Given the description of an element on the screen output the (x, y) to click on. 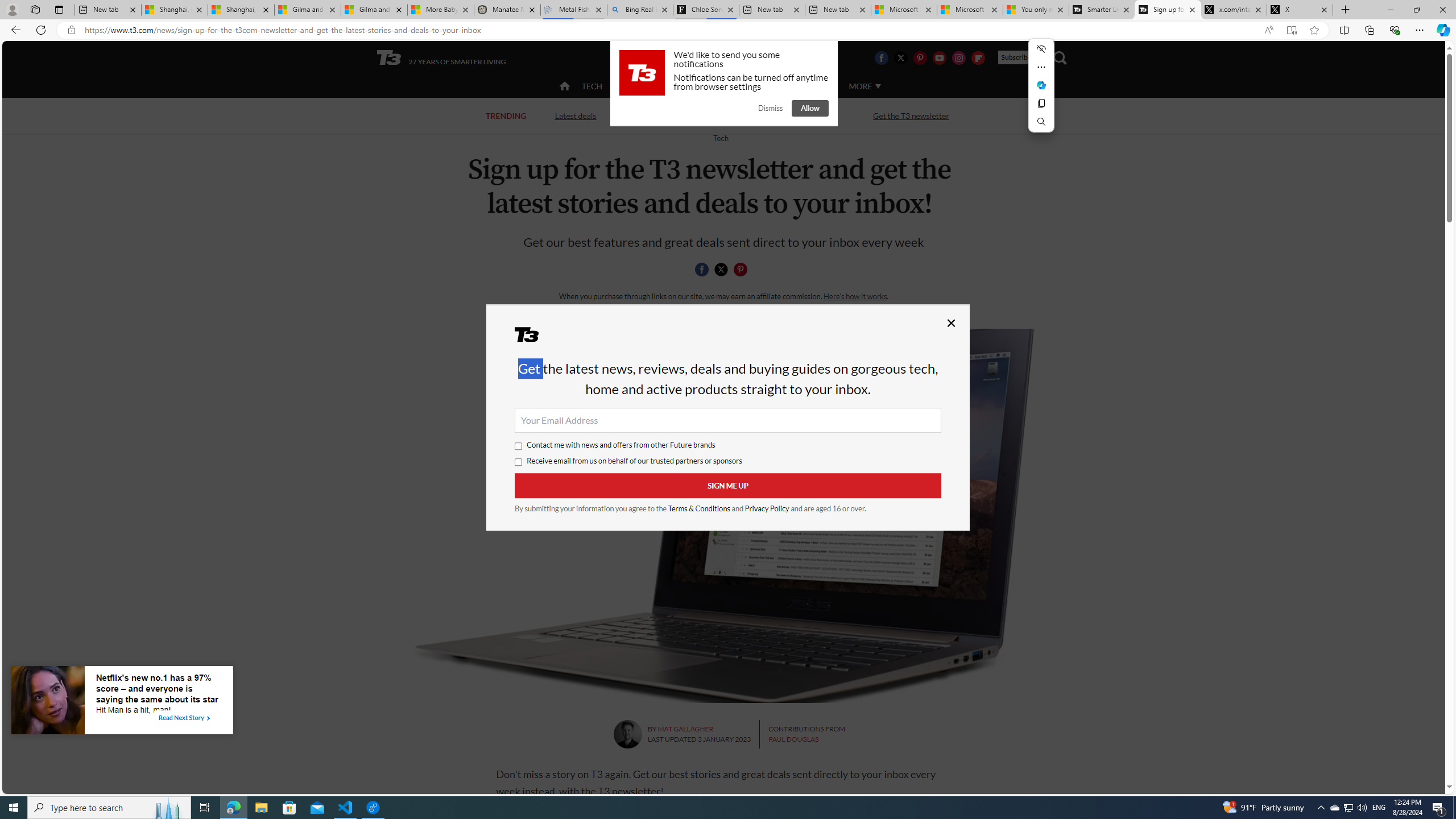
More actions (1041, 67)
Class: tbl-arrow-icon arrow-2 (208, 717)
Image for Taboola Advertising Unit (47, 702)
PAUL DOUGLAS (793, 738)
AUTO (815, 86)
ACTIVE (638, 85)
home (564, 86)
